Given the description of an element on the screen output the (x, y) to click on. 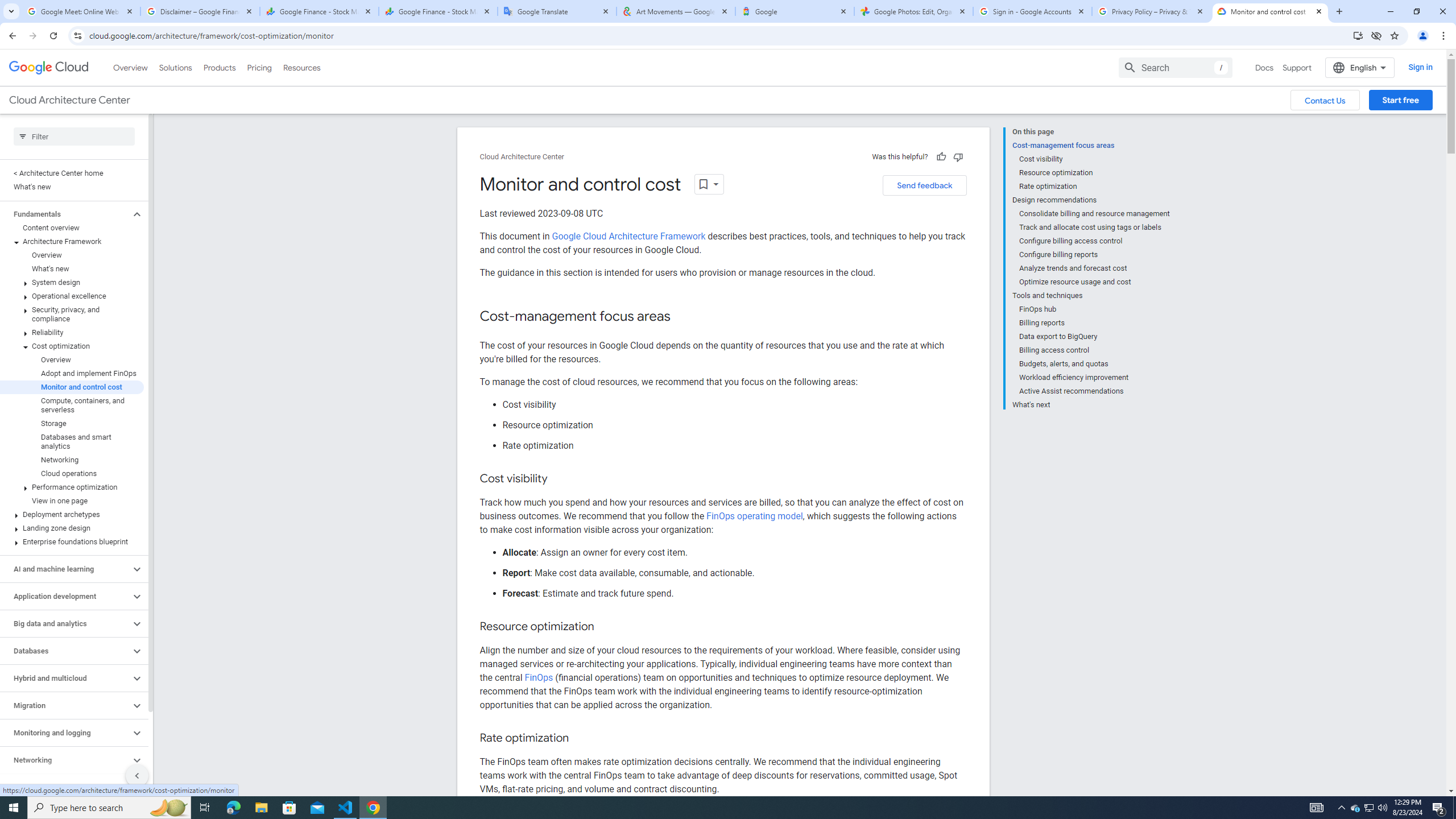
Open dropdown (708, 183)
Overview (72, 359)
Security, privacy, and compliance (72, 314)
Products (218, 67)
Copy link to this section: Cost-management focus areas (681, 316)
Design recommendations (1090, 200)
Cost-management focus areas (1090, 145)
Hide side navigation (136, 775)
Google (794, 11)
Active Assist recommendations (1094, 391)
Send feedback (924, 185)
System design (72, 282)
